Given the description of an element on the screen output the (x, y) to click on. 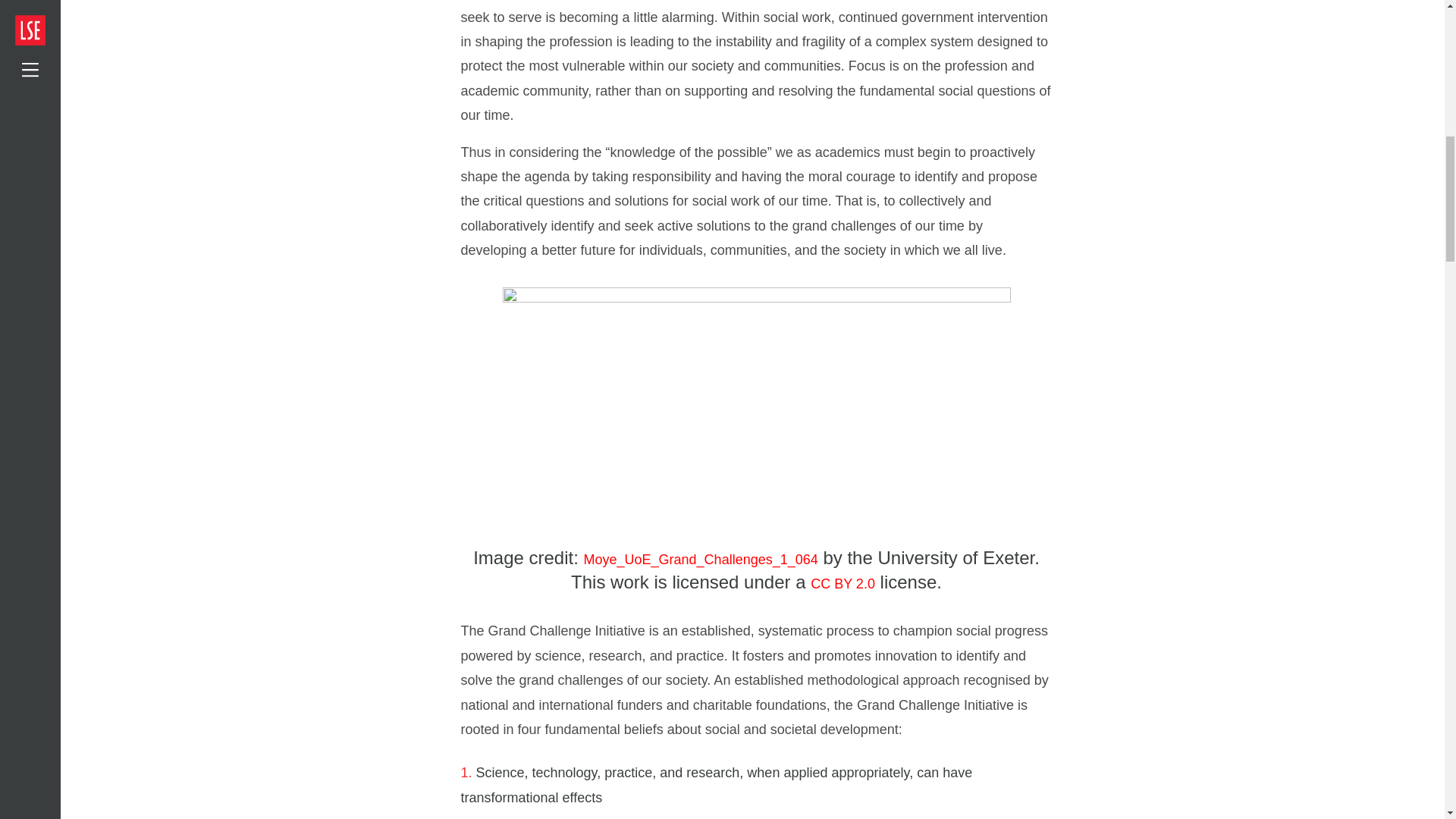
CC BY 2.0 (842, 583)
